Given the description of an element on the screen output the (x, y) to click on. 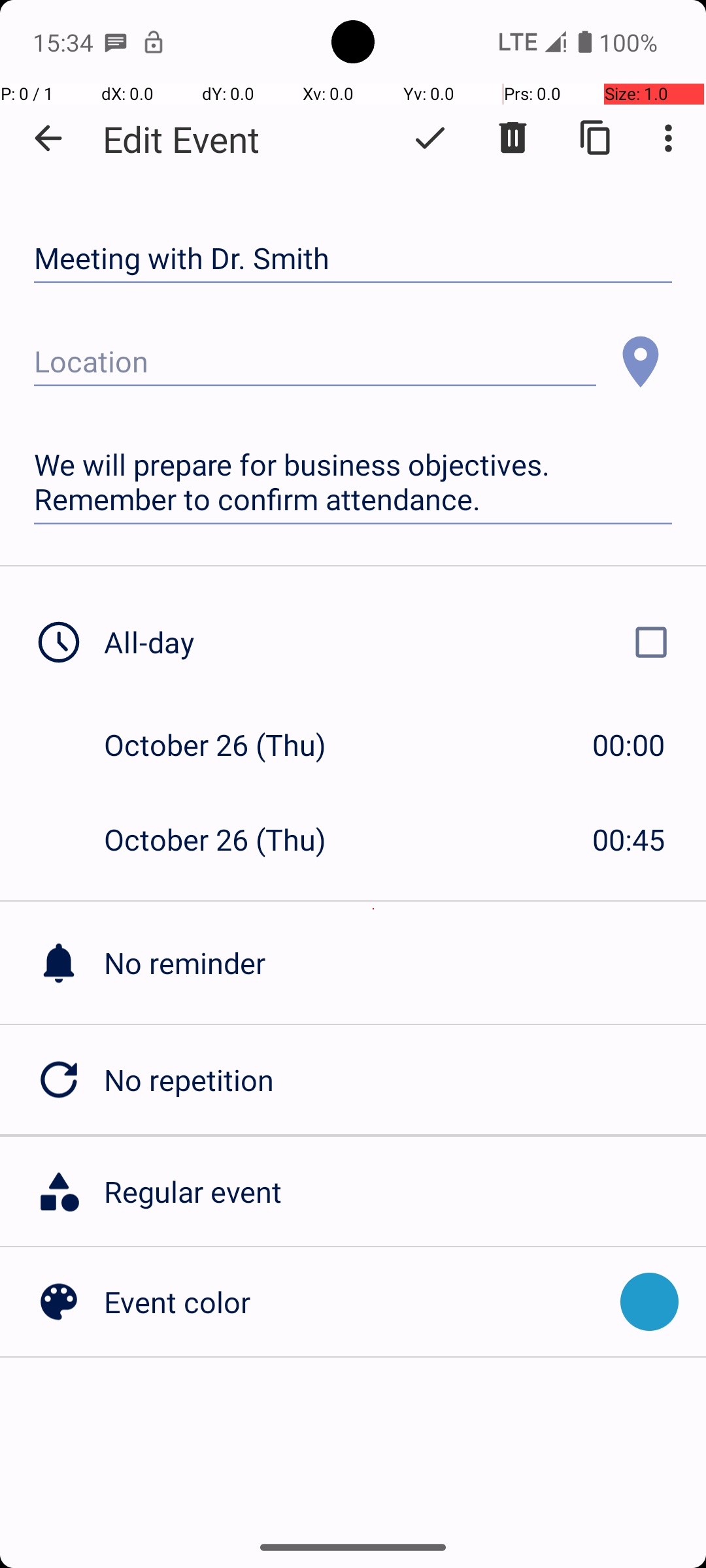
Meeting with Dr. Smith Element type: android.widget.EditText (352, 258)
We will prepare for business objectives. Remember to confirm attendance. Element type: android.widget.EditText (352, 482)
October 26 (Thu) Element type: android.widget.TextView (228, 744)
00:00 Element type: android.widget.TextView (628, 744)
00:45 Element type: android.widget.TextView (628, 838)
